Given the description of an element on the screen output the (x, y) to click on. 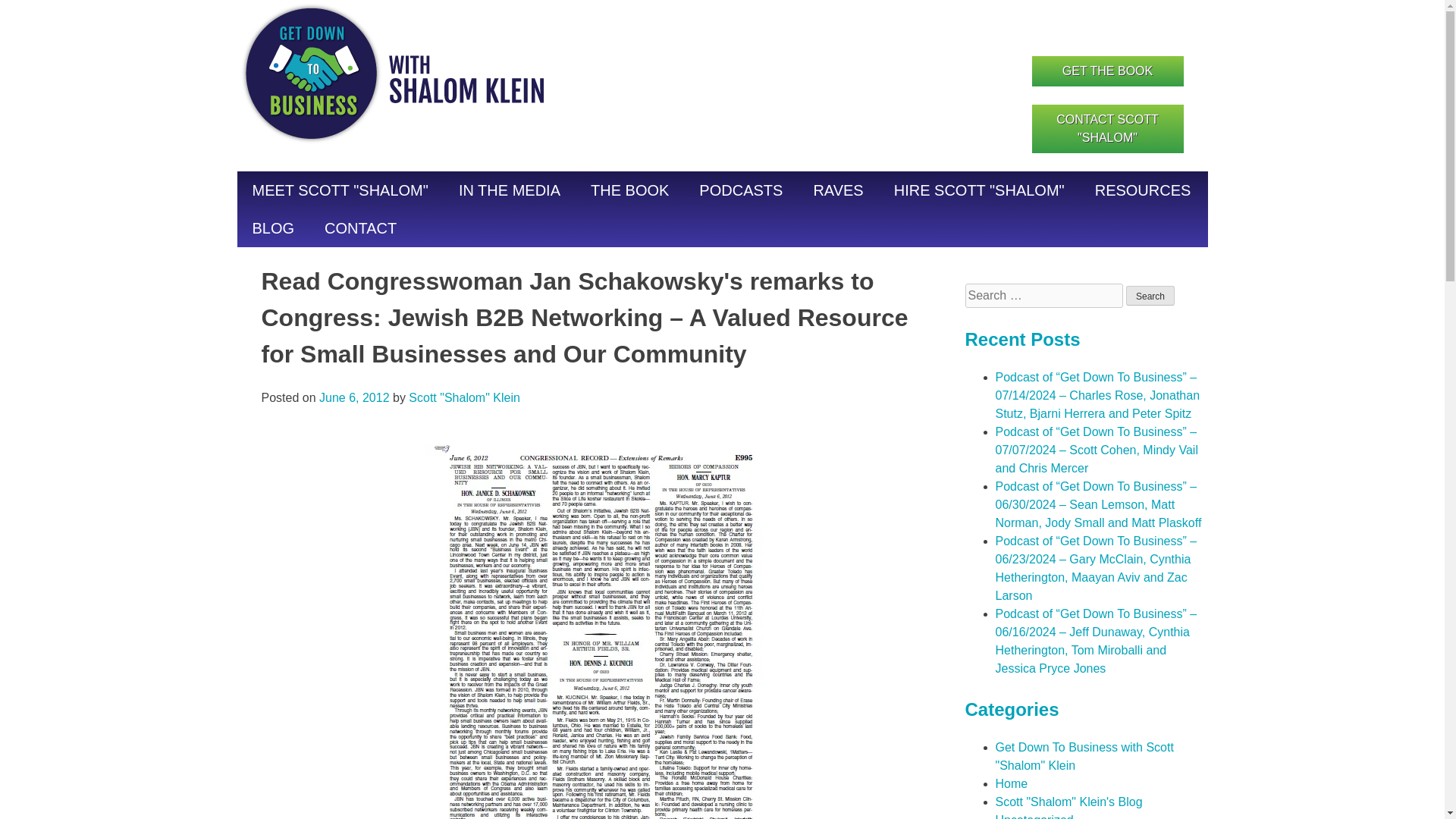
CONTACT (360, 228)
Get Down To Business with Scott "Shalom" Klein (1083, 756)
Search (1149, 295)
PODCASTS (740, 190)
RESOURCES (1143, 190)
Home (1010, 783)
CONTACT SCOTT "SHALOM" (1106, 128)
GET THE BOOK (1106, 71)
RAVES (837, 190)
IN THE MEDIA (509, 190)
Search (1149, 295)
Scott "Shalom" Klein (464, 397)
MEET SCOTT "SHALOM" (338, 190)
Scott "Shalom" Klein's Blog (1067, 801)
THE BOOK (629, 190)
